Given the description of an element on the screen output the (x, y) to click on. 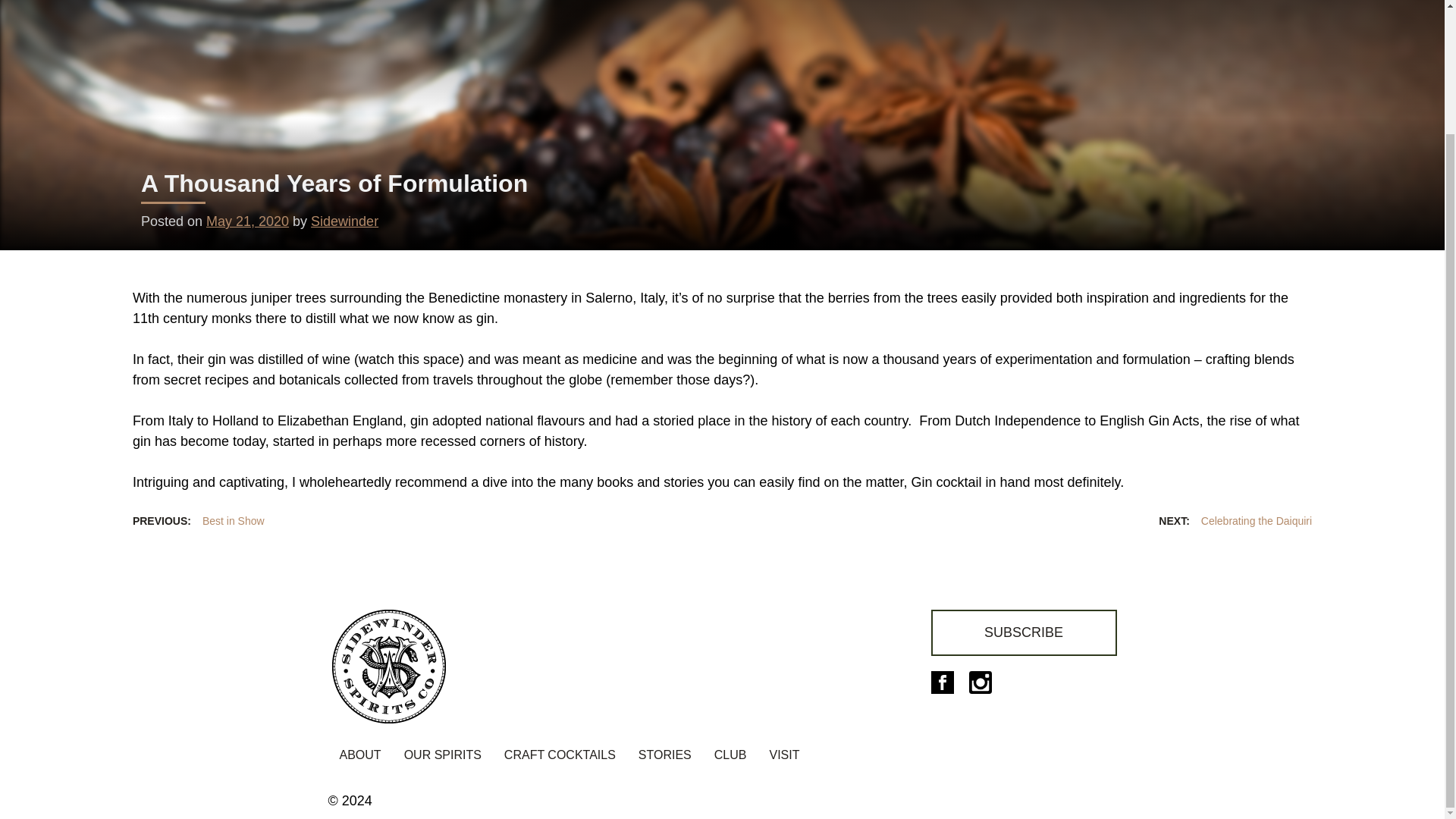
CLUB (730, 757)
SUBSCRIBE (1023, 632)
VISIT (783, 757)
OUR SPIRITS (443, 757)
Best in Show (198, 521)
May 21, 2020 (247, 221)
CRAFT COCKTAILS (560, 757)
ABOUT (359, 757)
Celebrating the Daiquiri (1234, 521)
Sidewinder (344, 221)
